Given the description of an element on the screen output the (x, y) to click on. 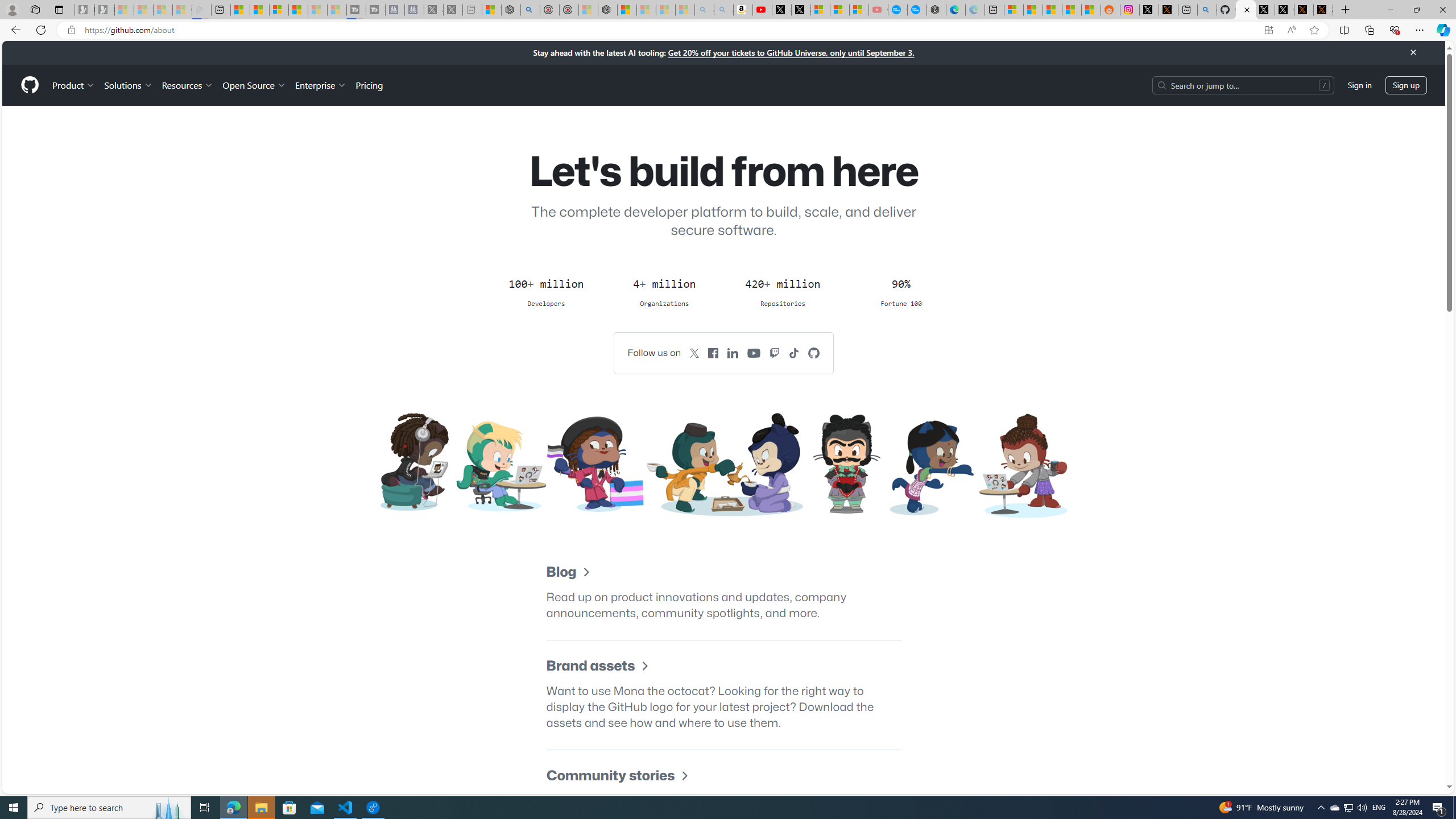
Nordace - Nordace Siena Is Not An Ordinary Backpack (606, 9)
Resources (187, 84)
Sign in (1359, 84)
An array of octocats working and enjoying life (723, 465)
Amazon Echo Dot PNG - Search Images - Sleeping (723, 9)
Product (74, 84)
GitHub on X (694, 352)
